Given the description of an element on the screen output the (x, y) to click on. 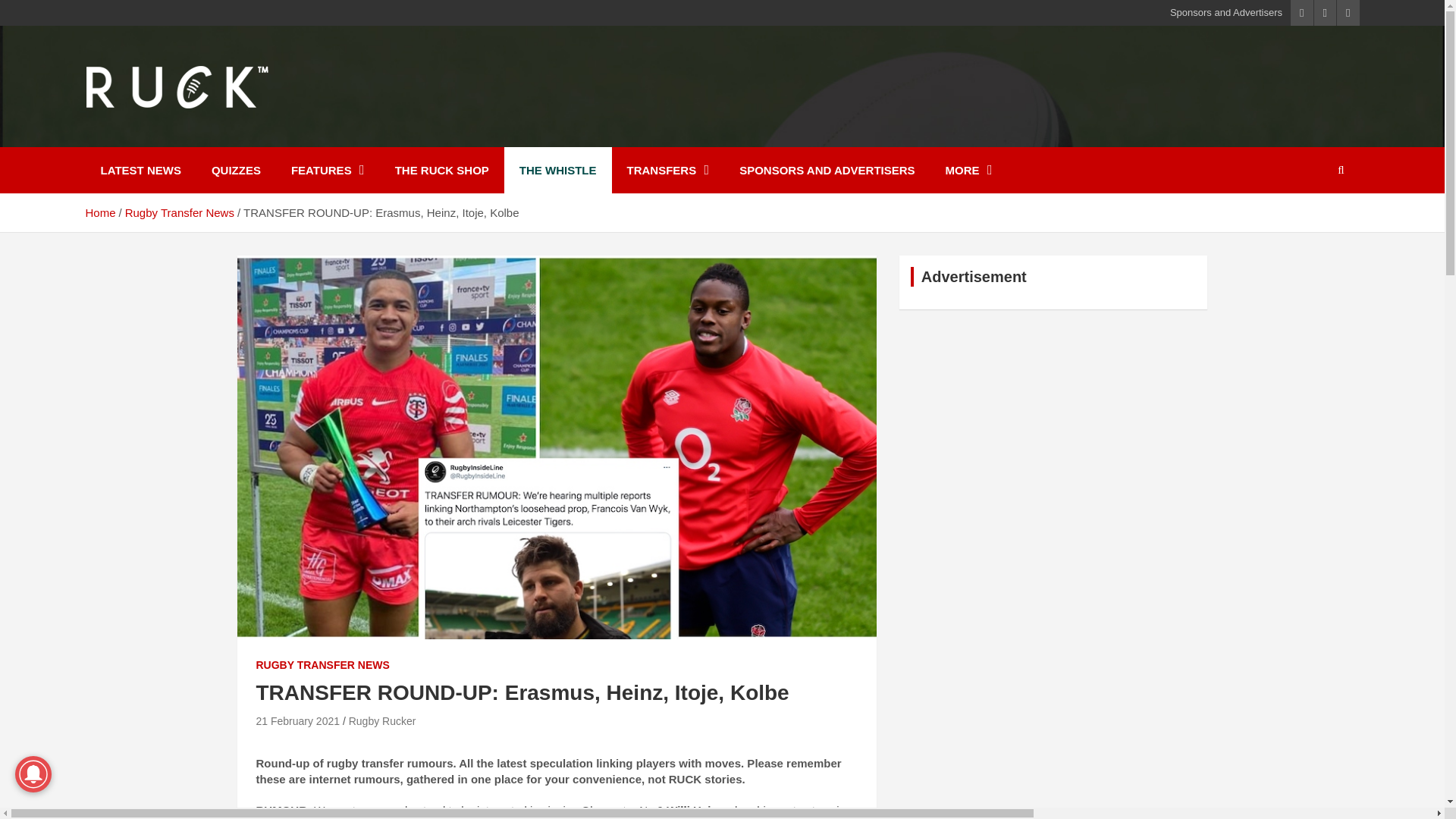
QUIZZES (236, 170)
THE WHISTLE (557, 170)
MORE (968, 170)
SPONSORS AND ADVERTISERS (826, 170)
Ruck (121, 136)
Sponsors and Advertisers (1226, 12)
RUGBY TRANSFER NEWS (323, 665)
TRANSFER ROUND-UP: Erasmus, Heinz, Itoje, Kolbe (298, 720)
TRANSFERS (667, 170)
21 February 2021 (298, 720)
LATEST NEWS (139, 170)
THE RUCK SHOP (441, 170)
Rugby Rucker (382, 720)
Home (99, 212)
FEATURES (328, 170)
